Given the description of an element on the screen output the (x, y) to click on. 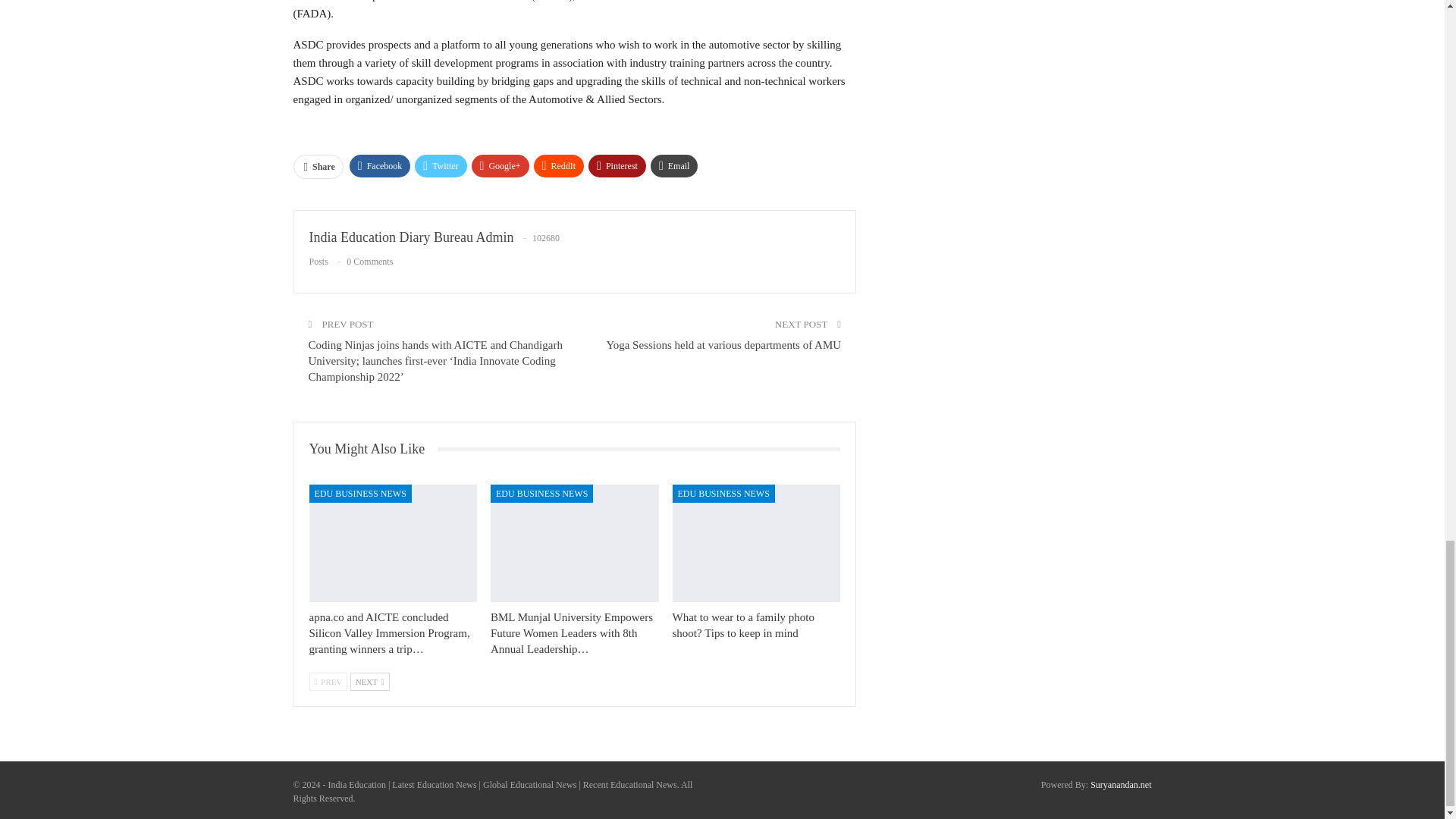
What to wear to a family photo shoot? Tips to keep in mind (756, 542)
What to wear to a family photo shoot? Tips to keep in mind (742, 624)
Next (370, 681)
Previous (327, 681)
